Given the description of an element on the screen output the (x, y) to click on. 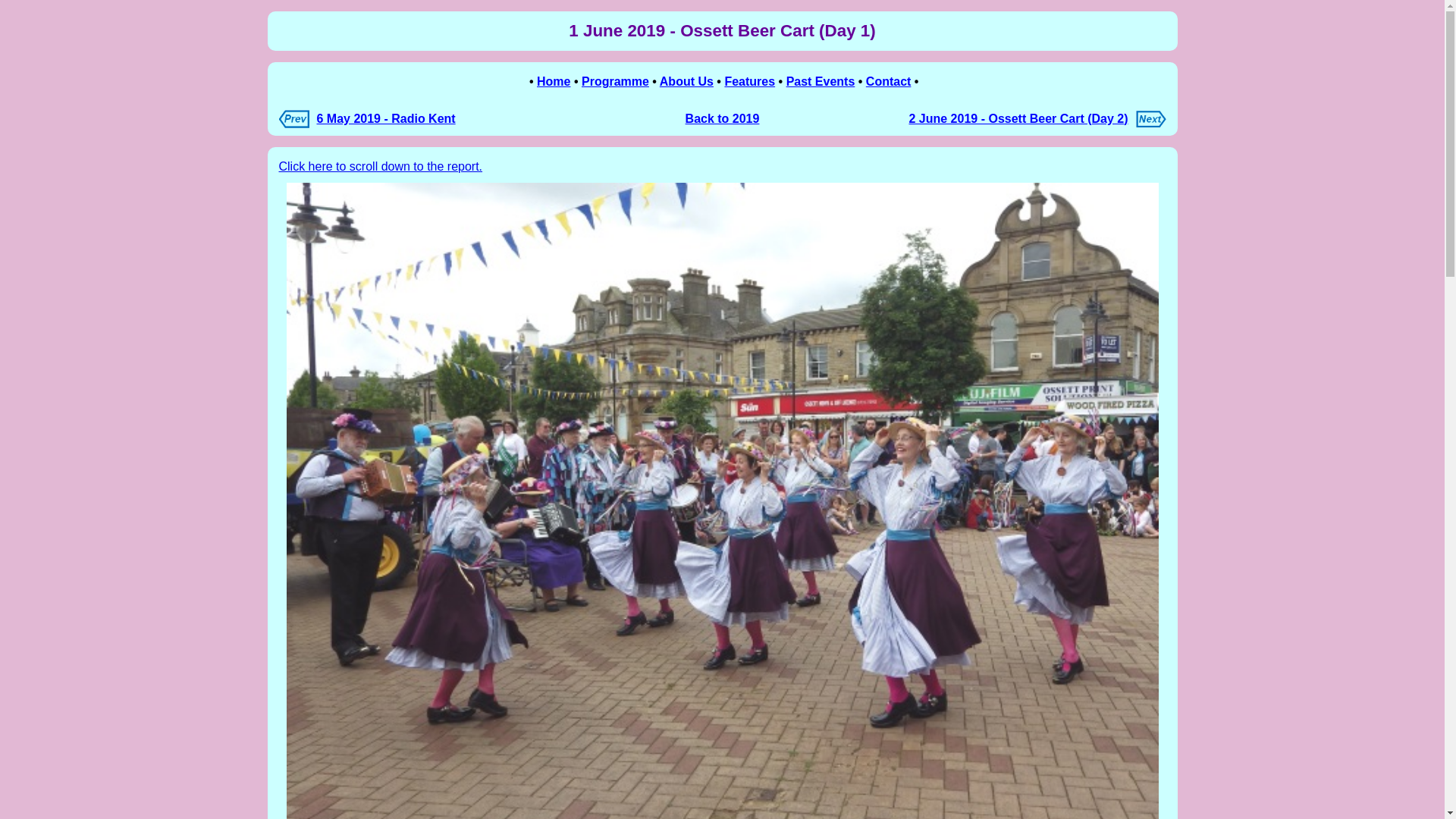
Previous report (293, 123)
Home (553, 81)
Features (748, 81)
About Us (686, 81)
Past Events (821, 81)
Click here to scroll down to the report. (381, 165)
Programme (614, 81)
Back to 2019 (722, 118)
Next report (1150, 123)
Contact (888, 81)
6 May 2019 - Radio Kent (386, 118)
